Given the description of an element on the screen output the (x, y) to click on. 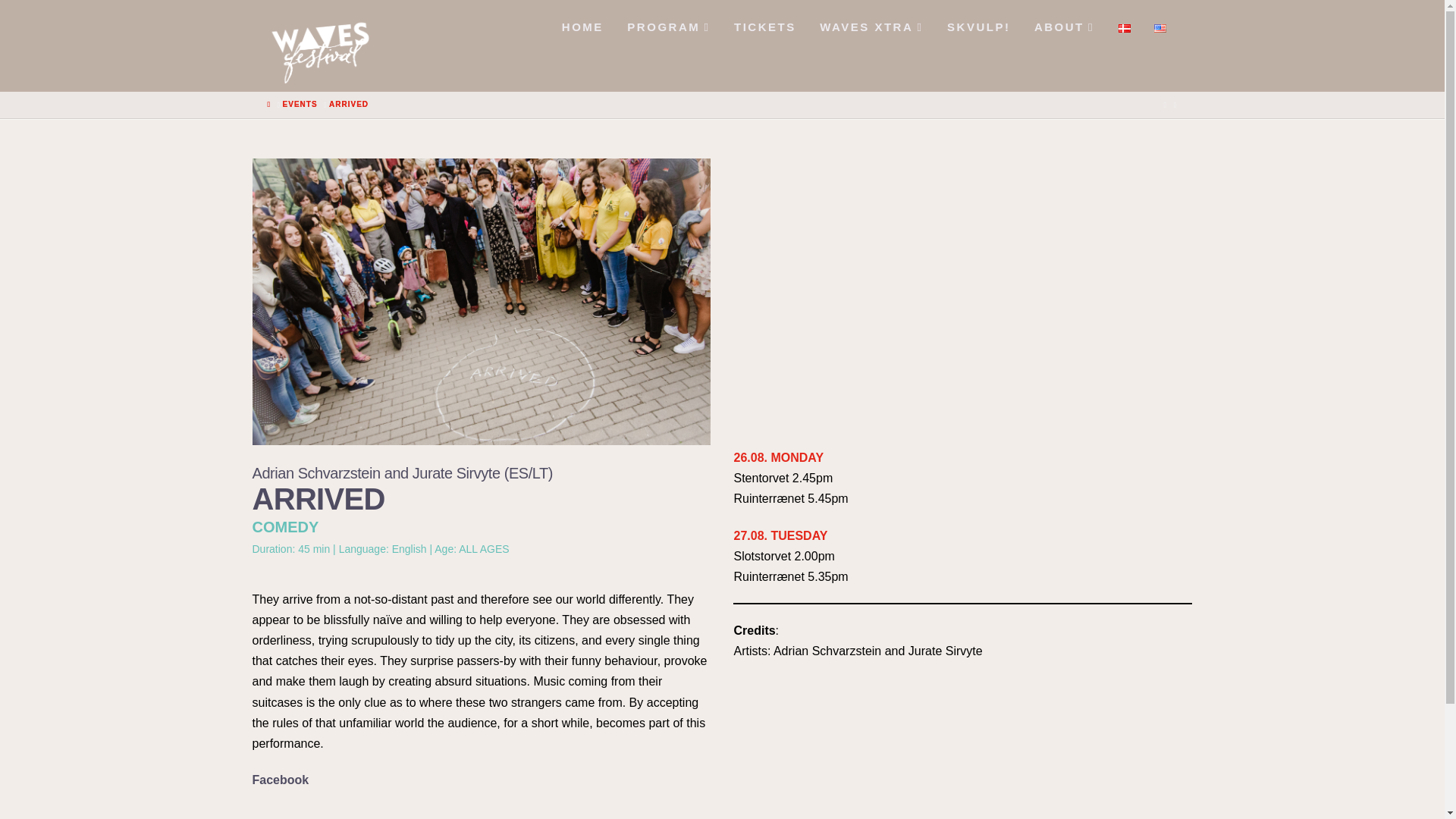
HOME (581, 22)
PROGRAM (667, 22)
TICKETS (763, 22)
You Are Here (348, 58)
SKVULP! (978, 22)
ABOUT (1063, 22)
WAVES XTRA (870, 22)
